Given the description of an element on the screen output the (x, y) to click on. 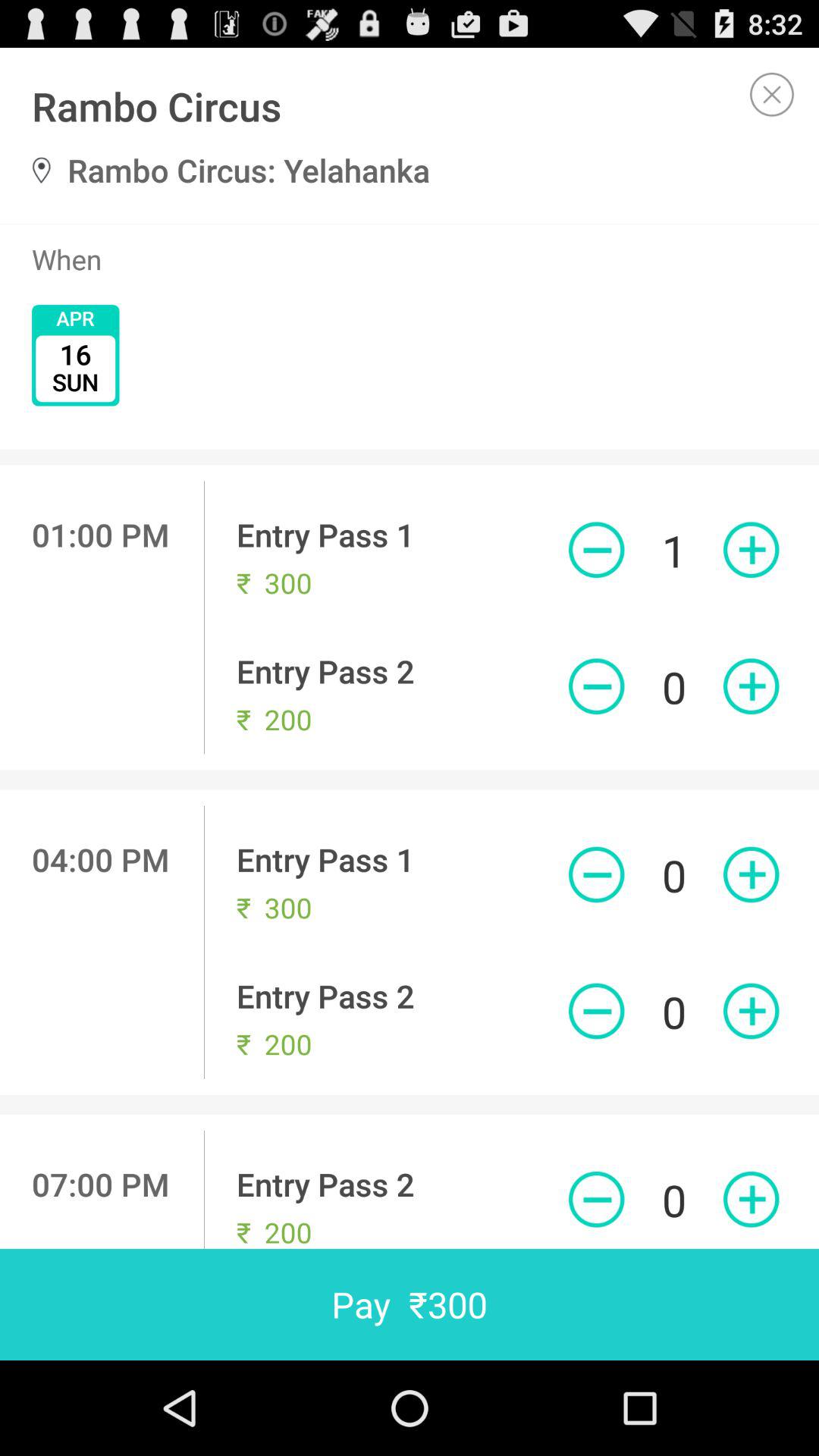
add an entry pass 1 (751, 549)
